Given the description of an element on the screen output the (x, y) to click on. 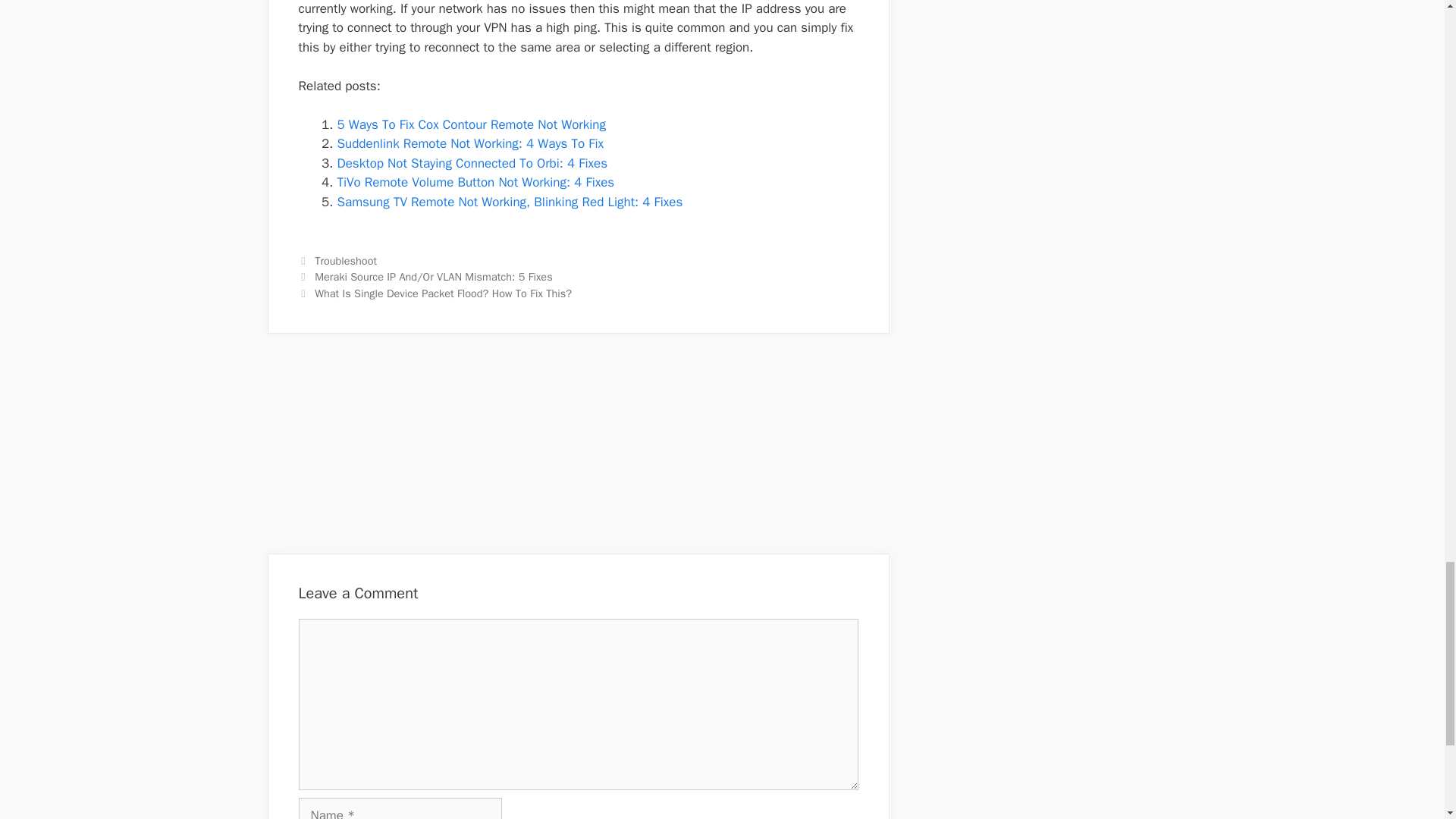
Samsung TV Remote Not Working, Blinking Red Light: 4 Fixes (509, 201)
Desktop Not Staying Connected To Orbi: 4 Fixes (471, 163)
Suddenlink Remote Not Working: 4 Ways To Fix (469, 143)
Suddenlink Remote Not Working: 4 Ways To Fix (469, 143)
Desktop Not Staying Connected To Orbi: 4 Fixes (471, 163)
Next (435, 293)
5 Ways To Fix Cox Contour Remote Not Working (470, 124)
5 Ways To Fix Cox Contour Remote Not Working (470, 124)
TiVo Remote Volume Button Not Working: 4 Fixes (475, 182)
Previous (425, 276)
